Given the description of an element on the screen output the (x, y) to click on. 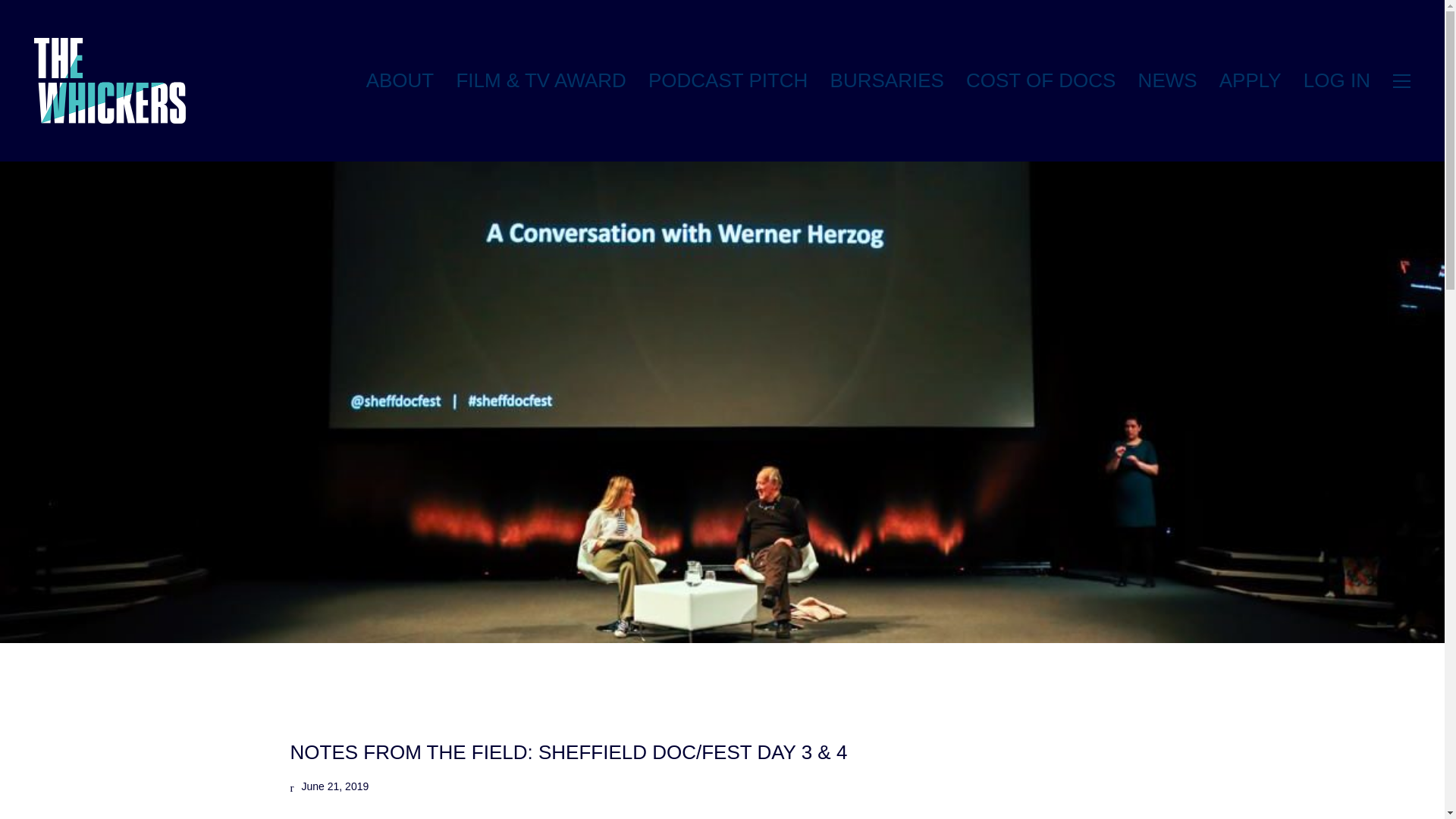
PODCAST PITCH (727, 80)
COST OF DOCS (1040, 80)
NEWS (1167, 80)
APPLY (1250, 80)
LOG IN (1336, 80)
ABOUT (399, 80)
BURSARIES (886, 80)
